Given the description of an element on the screen output the (x, y) to click on. 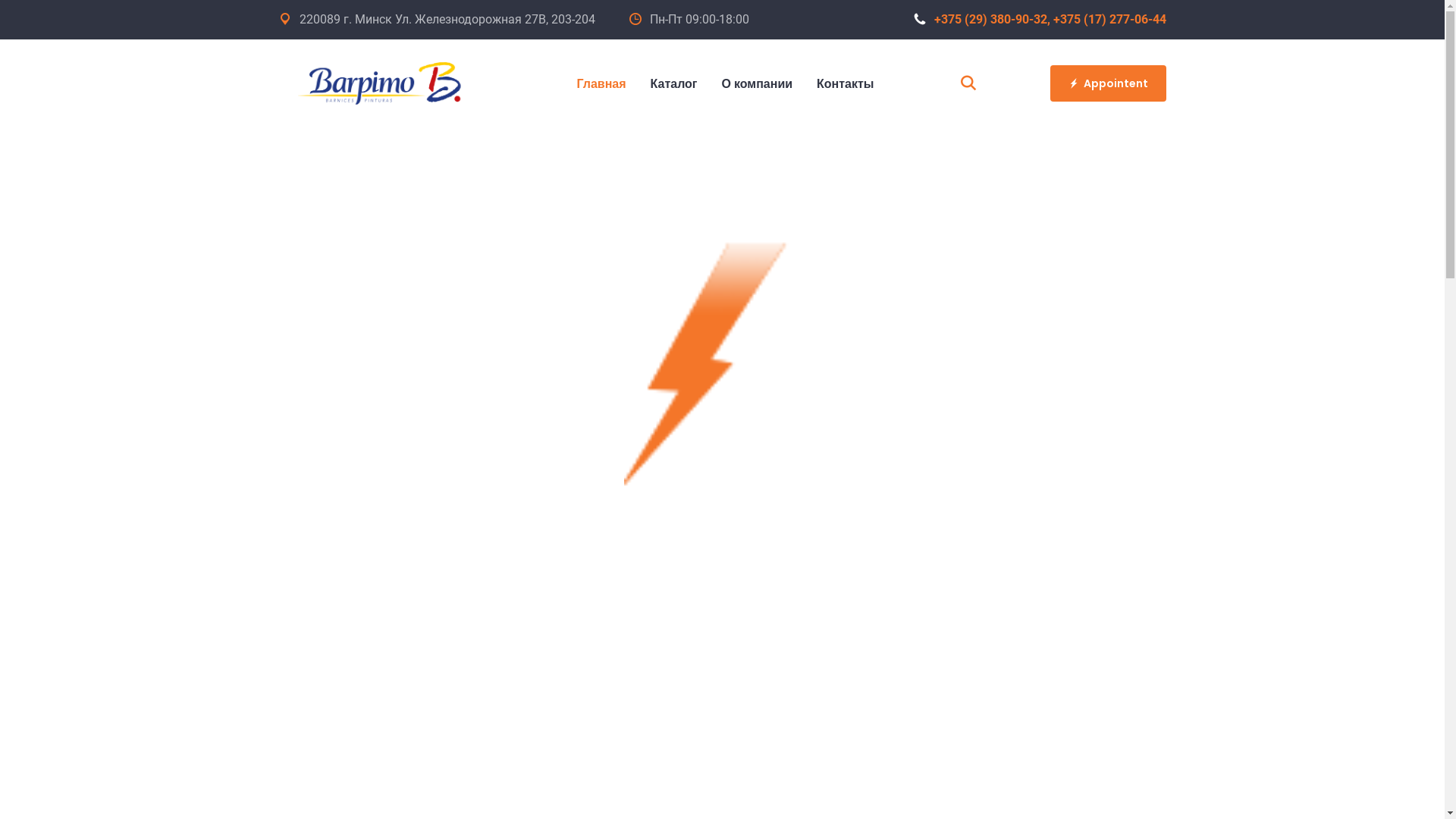
Appointent Element type: text (1107, 83)
+375 (29) 380-90-32, +375 (17) 277-06-44 Element type: text (1039, 19)
